Given the description of an element on the screen output the (x, y) to click on. 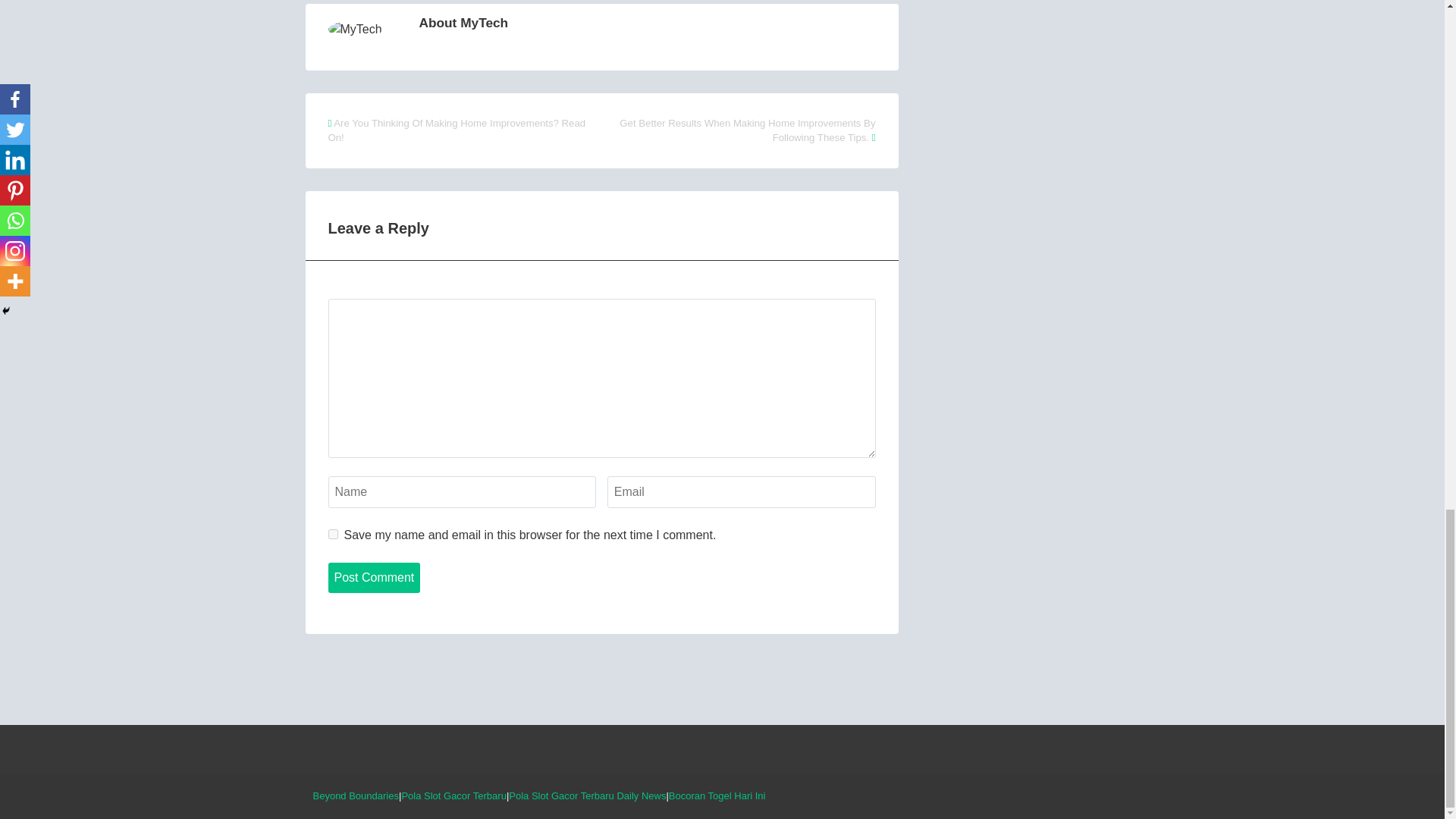
Are You Thinking Of Making Home Improvements? Read On! (456, 130)
Post Comment (373, 577)
yes (332, 533)
Post Comment (373, 577)
